Given the description of an element on the screen output the (x, y) to click on. 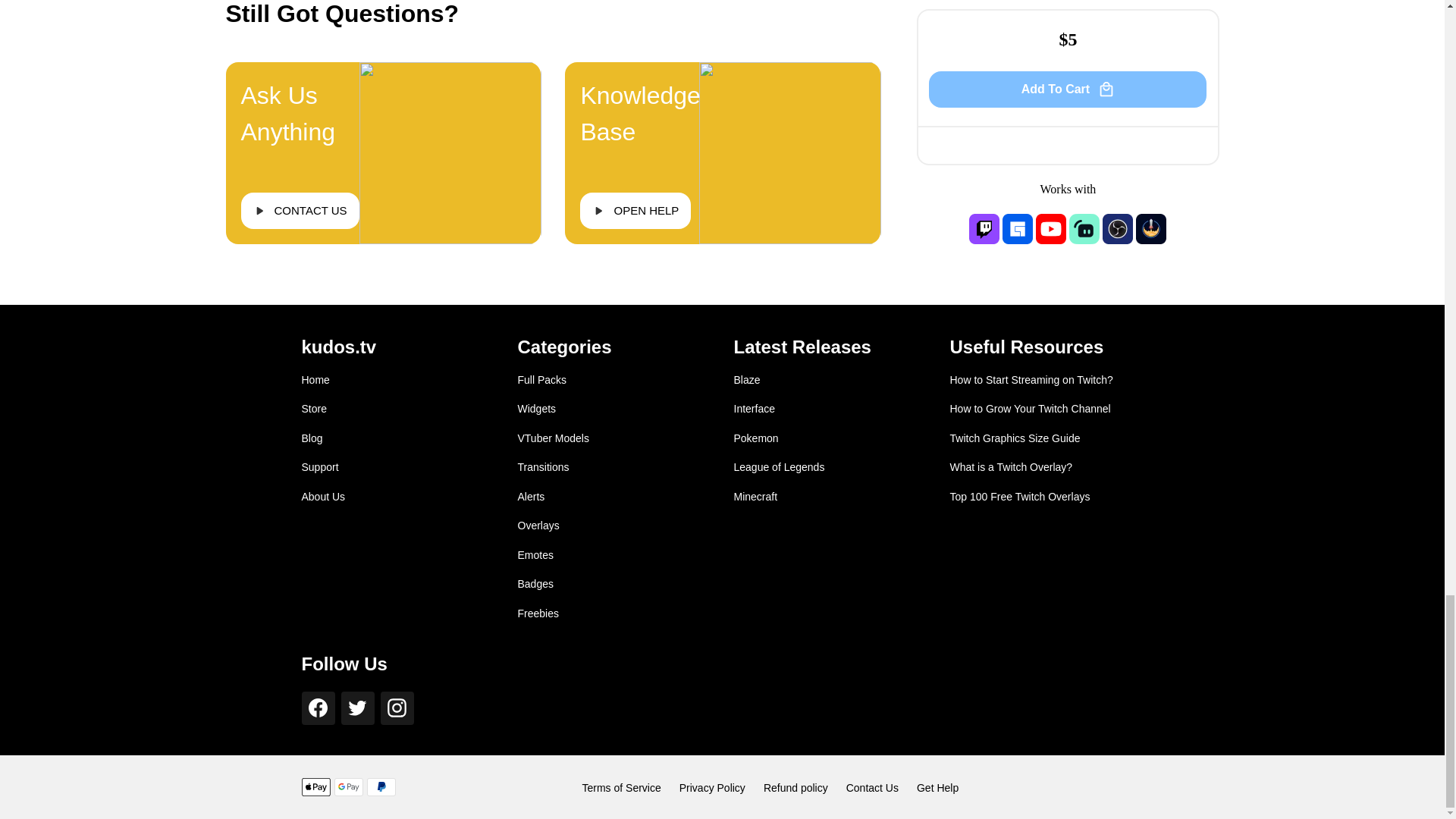
Apple Pay (315, 787)
Google Pay (347, 787)
PayPal (381, 787)
